Given the description of an element on the screen output the (x, y) to click on. 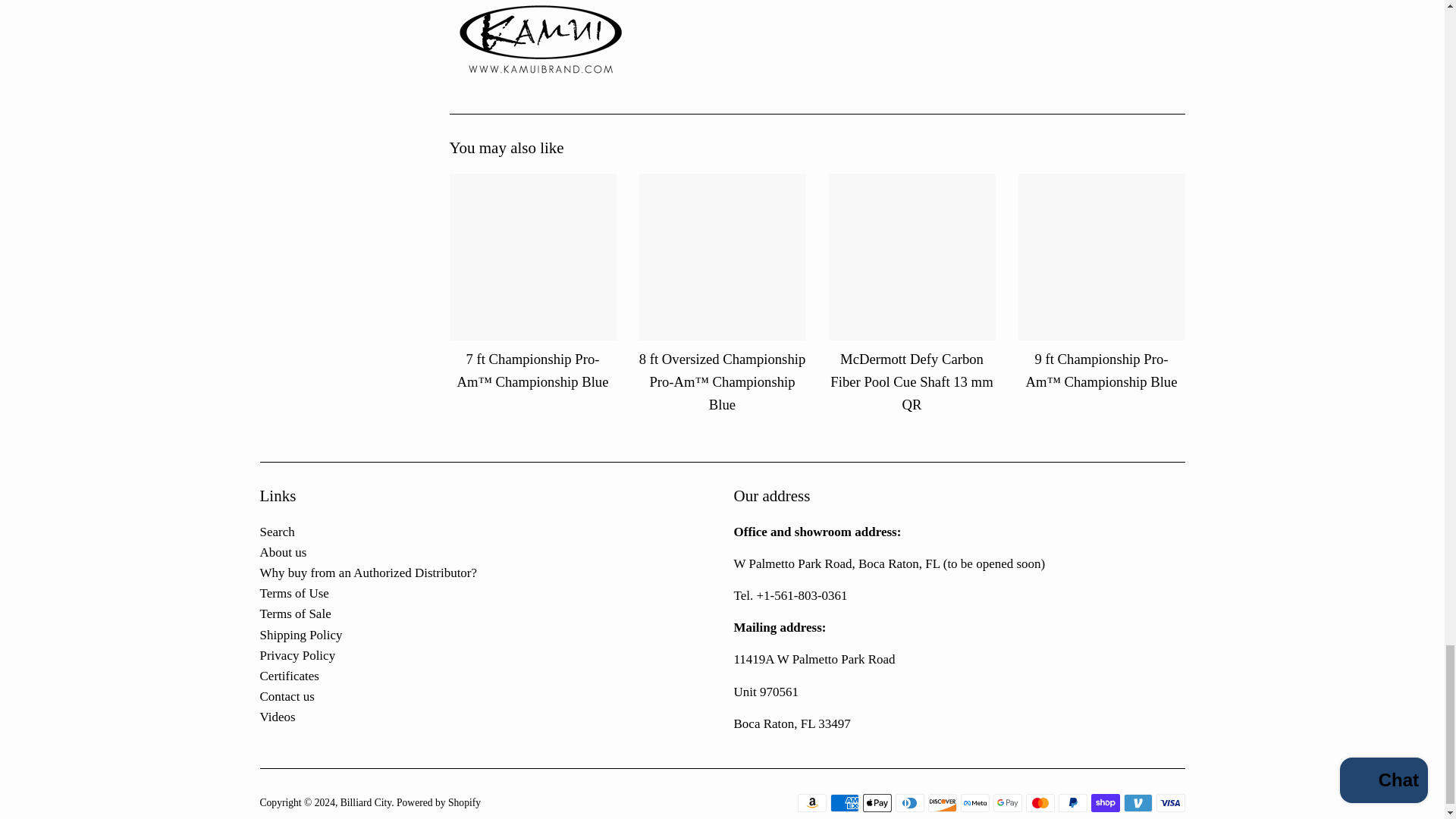
Discover (942, 802)
Visa (1170, 802)
American Express (844, 802)
Amazon (812, 802)
Apple Pay (877, 802)
McDermott Defy Carbon Fiber Pool Cue Shaft 13 mm QR (911, 256)
Google Pay (1007, 802)
Meta Pay (973, 802)
Diners Club (909, 802)
Mastercard (1039, 802)
